Given the description of an element on the screen output the (x, y) to click on. 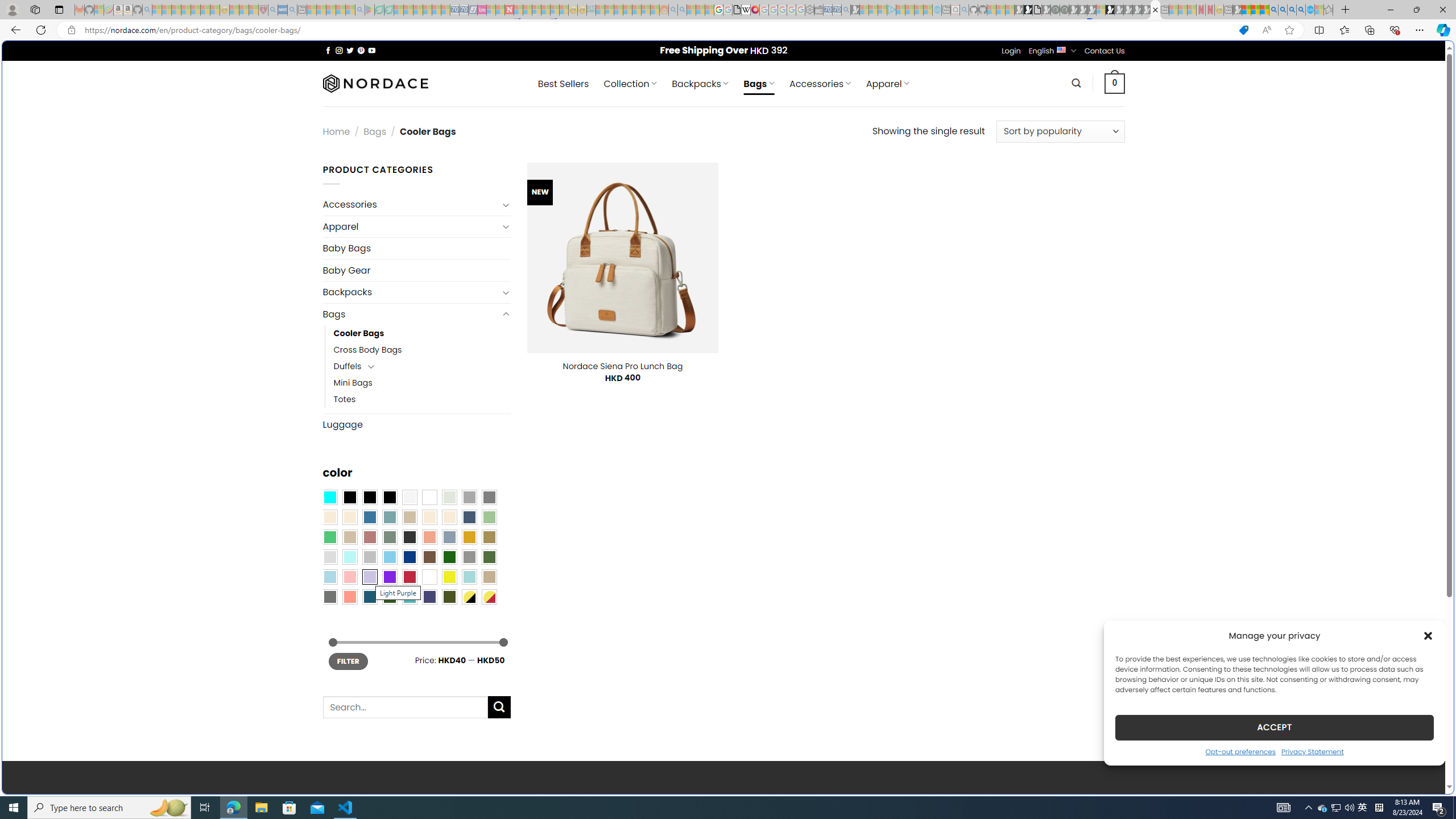
Caramel (429, 517)
All Black (349, 497)
DITOGAMES AG Imprint - Sleeping (590, 9)
Nordace - Cooler Bags (1154, 9)
Charcoal (408, 536)
